Given the description of an element on the screen output the (x, y) to click on. 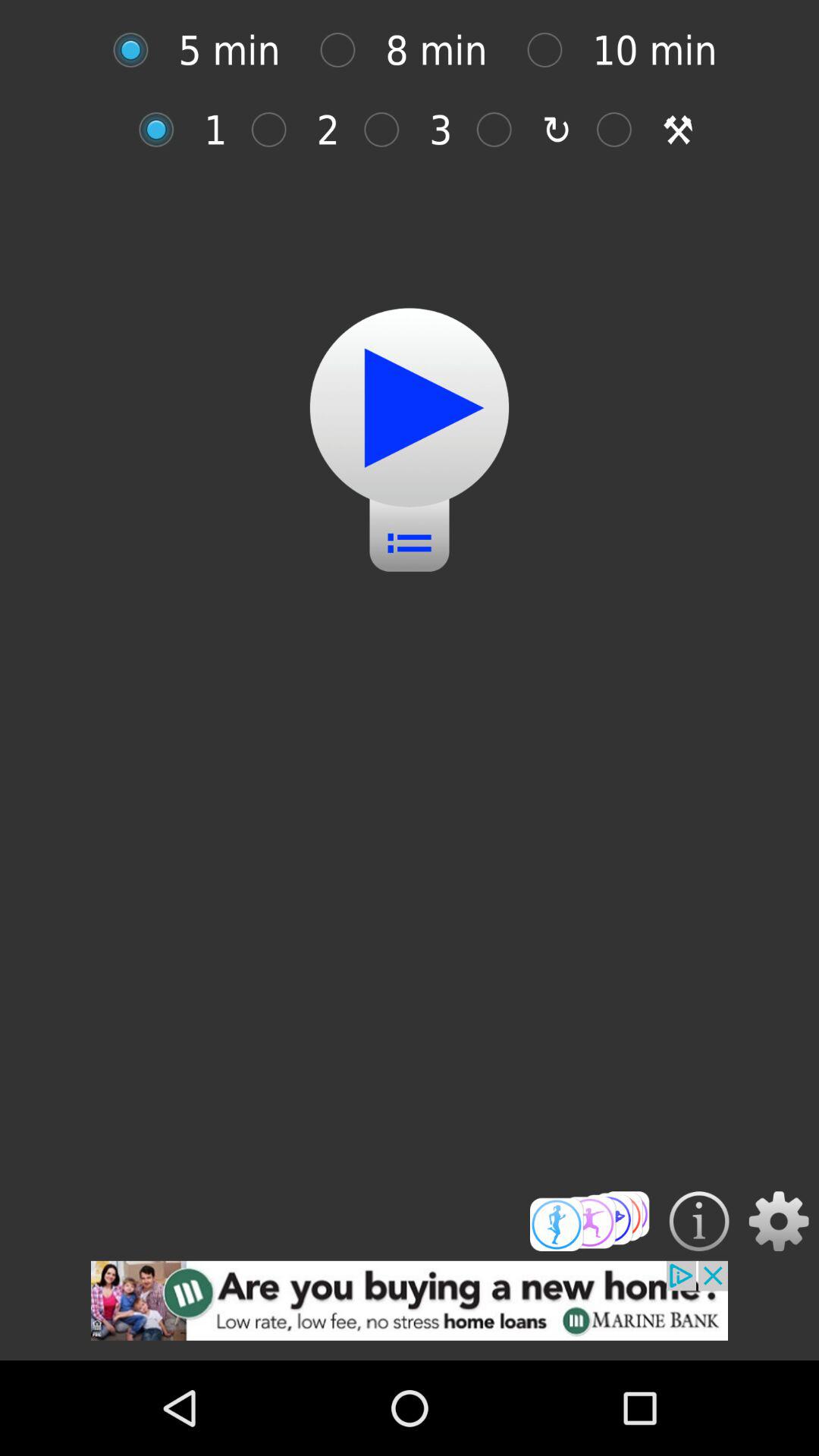
go to setting (778, 1221)
